Given the description of an element on the screen output the (x, y) to click on. 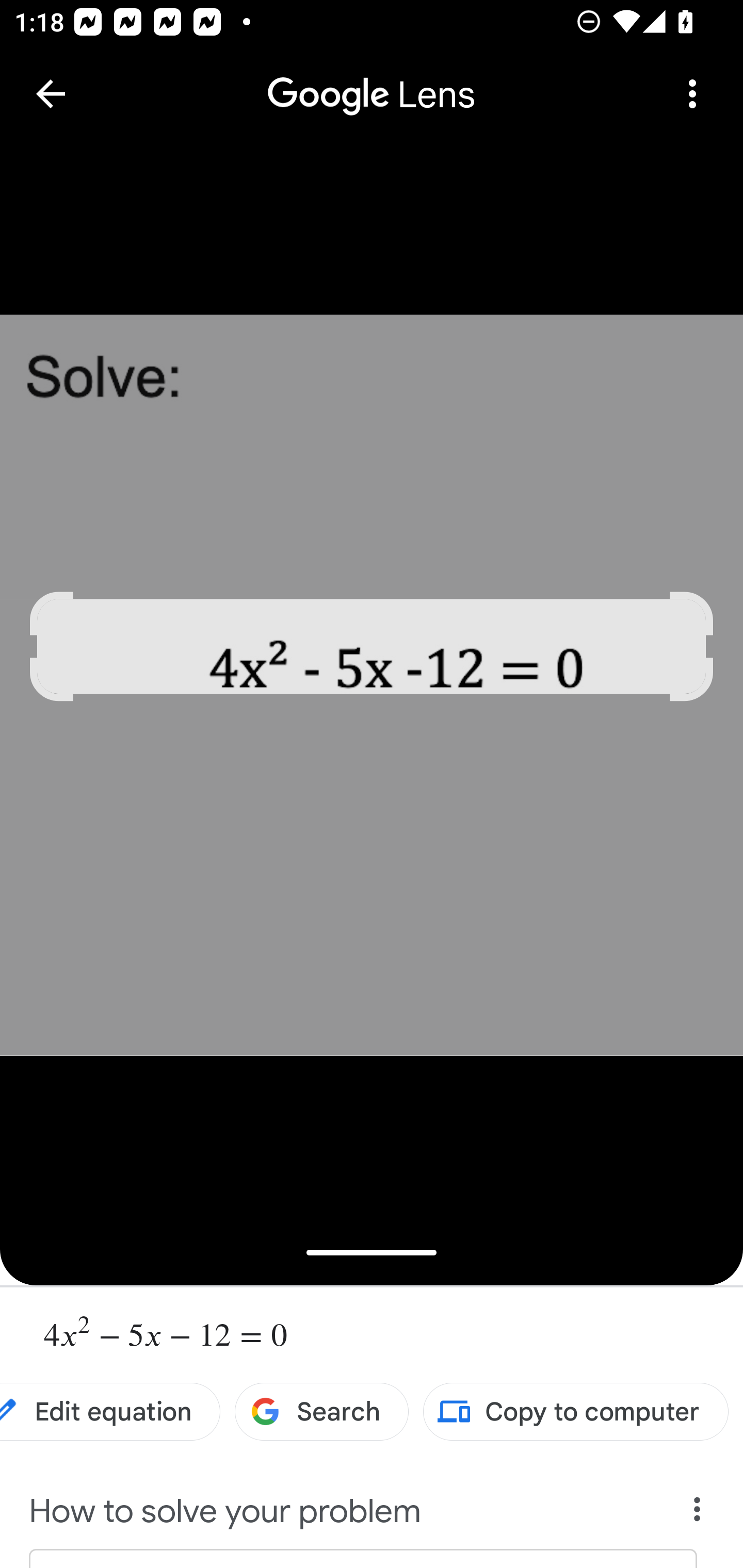
Google Lens Lens (371, 80)
Go back (50, 94)
More options (692, 94)
Edit equation (110, 1411)
Search (321, 1411)
Copy to computer (575, 1411)
Open privacy policy menu (697, 1513)
